Given the description of an element on the screen output the (x, y) to click on. 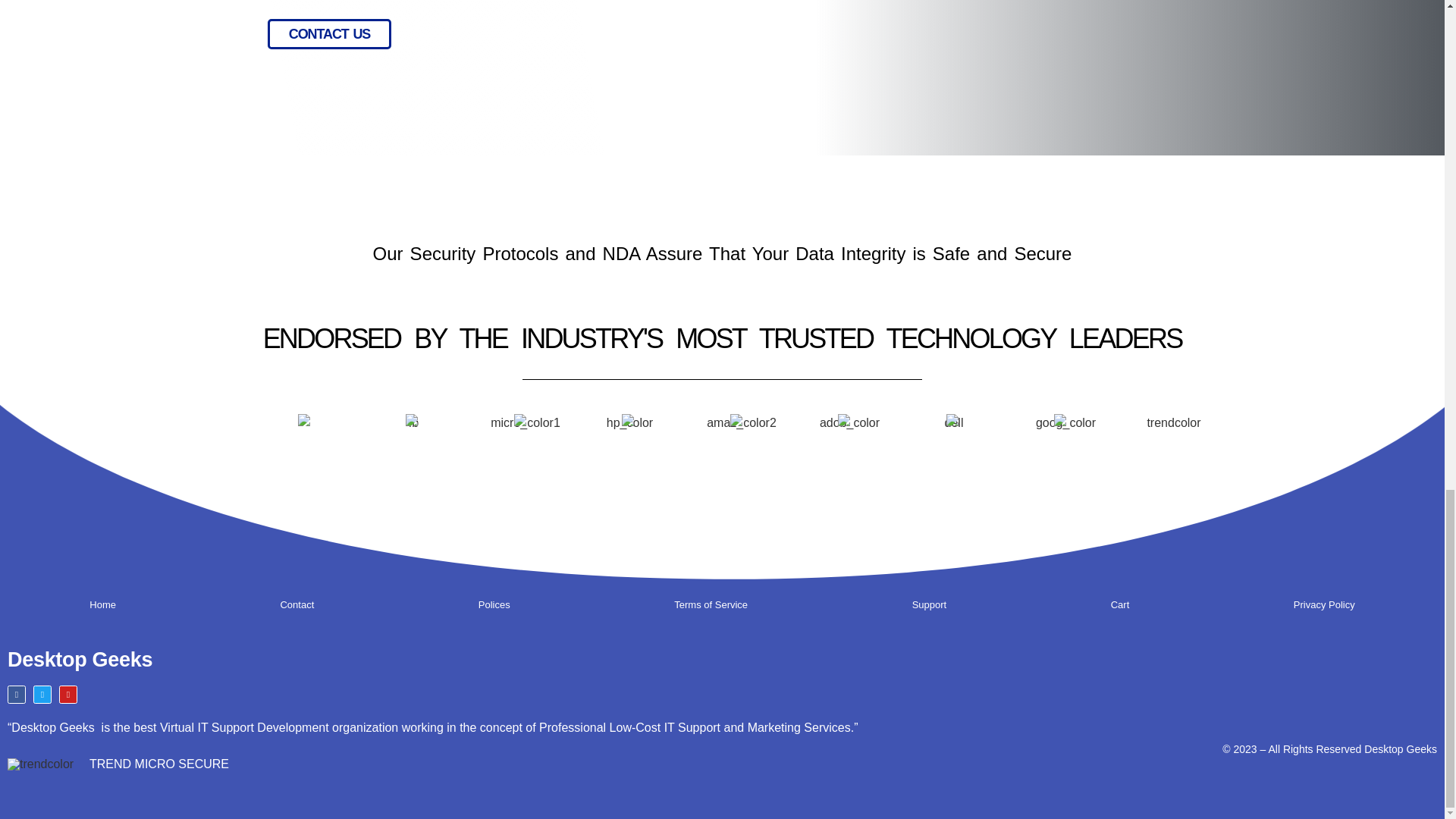
Terms of Service (710, 604)
Privacy Policy (1324, 604)
CONTACT US (329, 33)
Cart (1119, 604)
Contact (297, 604)
Support (928, 604)
Polices (494, 604)
Home (102, 604)
